Given the description of an element on the screen output the (x, y) to click on. 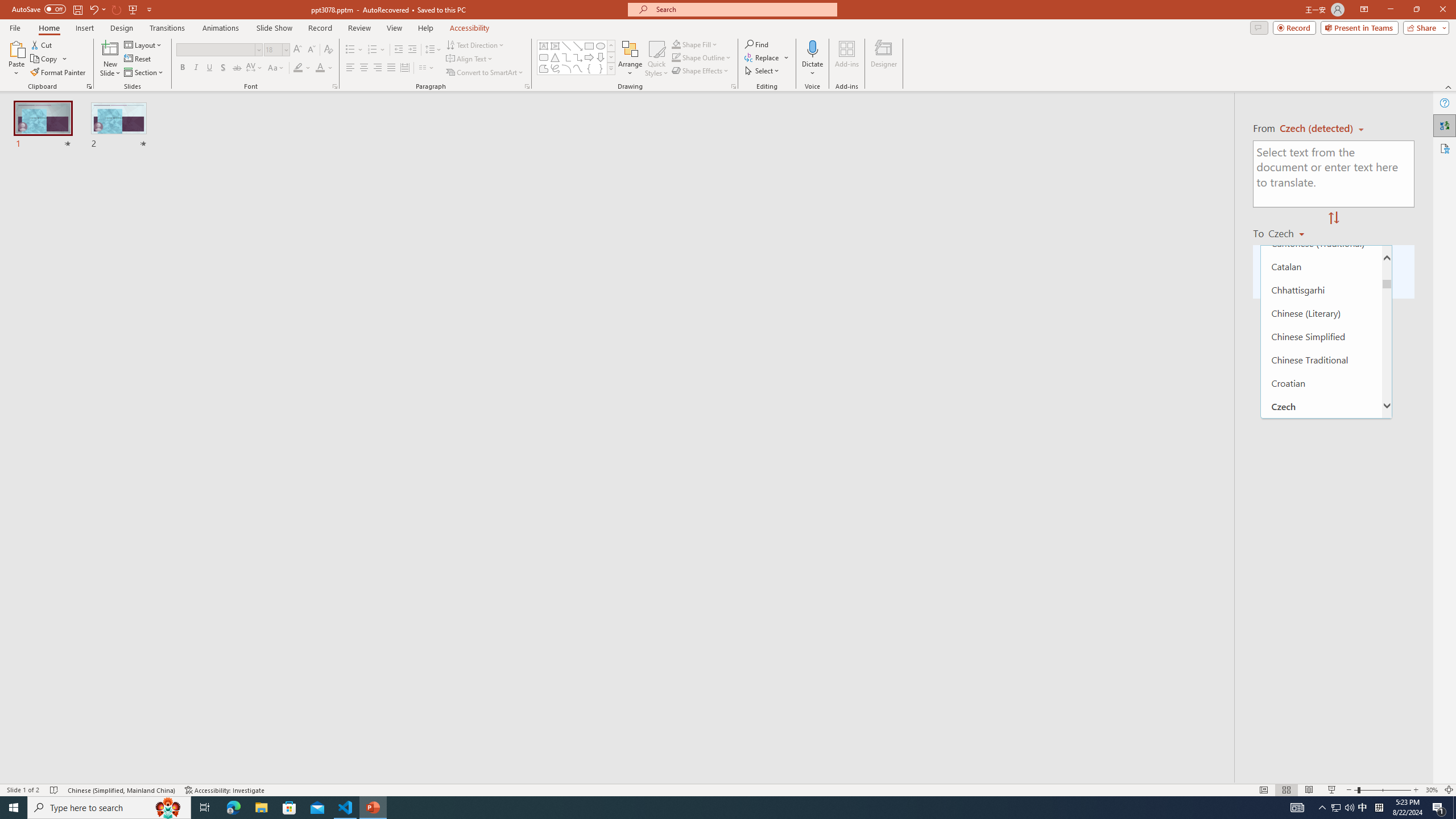
Chinese Simplified (1320, 336)
Cantonese (Traditional) (1320, 242)
